Given the description of an element on the screen output the (x, y) to click on. 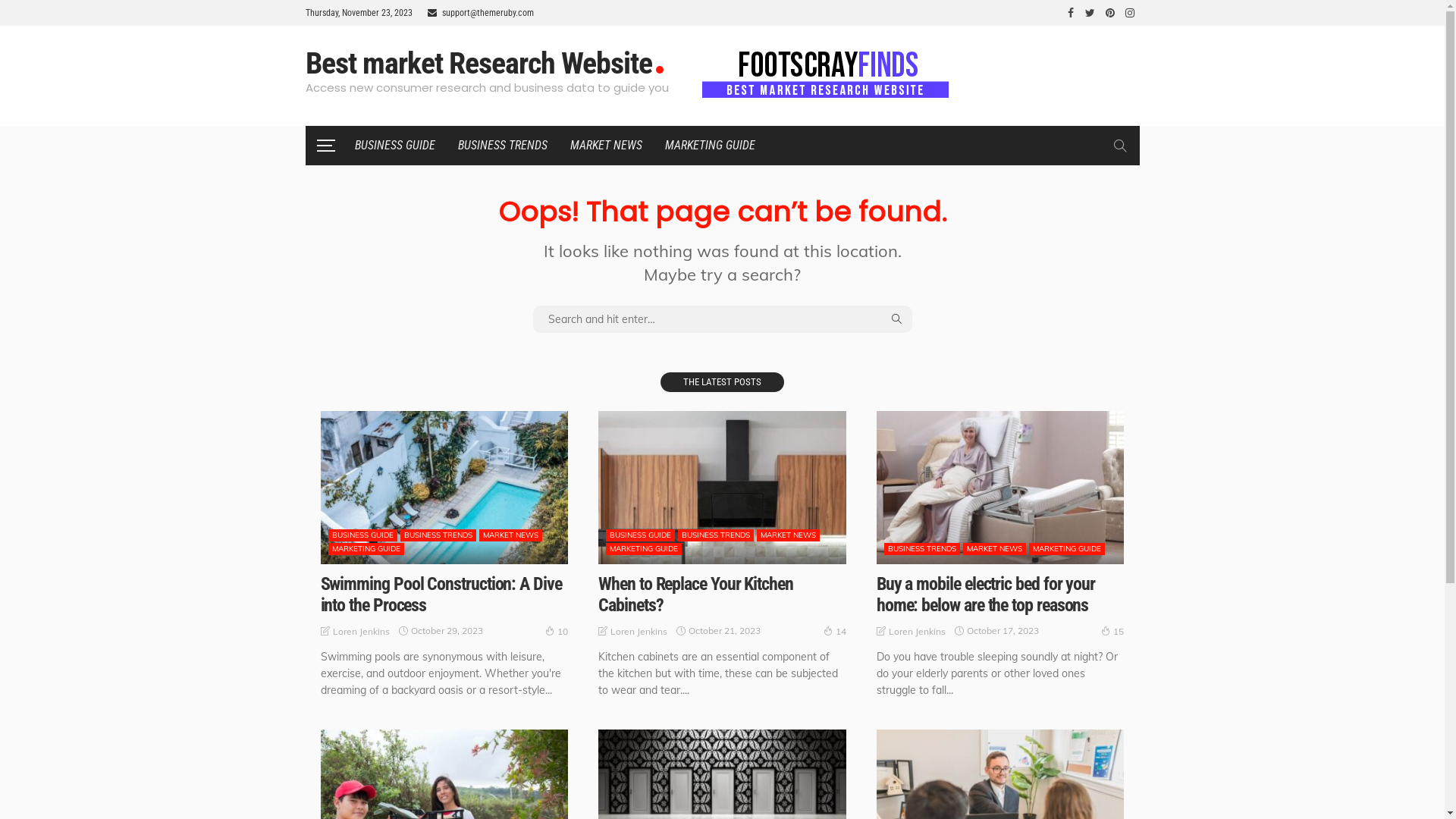
BUSINESS GUIDE Element type: text (361, 535)
Loren Jenkins Element type: text (360, 630)
BUSINESS GUIDE Element type: text (393, 145)
Best market Research Website Element type: text (418, 63)
BUSINESS GUIDE Element type: text (639, 535)
BUSINESS TRENDS Element type: text (501, 145)
BUSINESS TRENDS Element type: text (715, 535)
BUSINESS TRENDS Element type: text (438, 535)
Loren Jenkins Element type: text (638, 630)
10 Element type: text (556, 631)
MARKETING GUIDE Element type: text (1066, 548)
MARKET NEWS Element type: text (605, 145)
MARKET NEWS Element type: text (510, 535)
Swimming Pool Construction: A Dive into the Process Element type: hover (443, 487)
Loren Jenkins Element type: text (916, 630)
Swimming Pool Construction: A Dive into the Process Element type: text (440, 594)
BUSINESS TRENDS Element type: text (922, 548)
MARKETING GUIDE Element type: text (365, 548)
search Element type: hover (1119, 145)
MARKETING GUIDE Element type: text (643, 548)
When to Replace Your Kitchen Cabinets? Element type: text (695, 594)
15 Element type: text (1112, 631)
When to Replace Your Kitchen Cabinets? Element type: hover (722, 487)
MARKET NEWS Element type: text (787, 535)
search for: Element type: hover (721, 318)
MARKETING GUIDE Element type: text (709, 145)
MARKET NEWS Element type: text (994, 548)
14 Element type: text (834, 631)
